Given the description of an element on the screen output the (x, y) to click on. 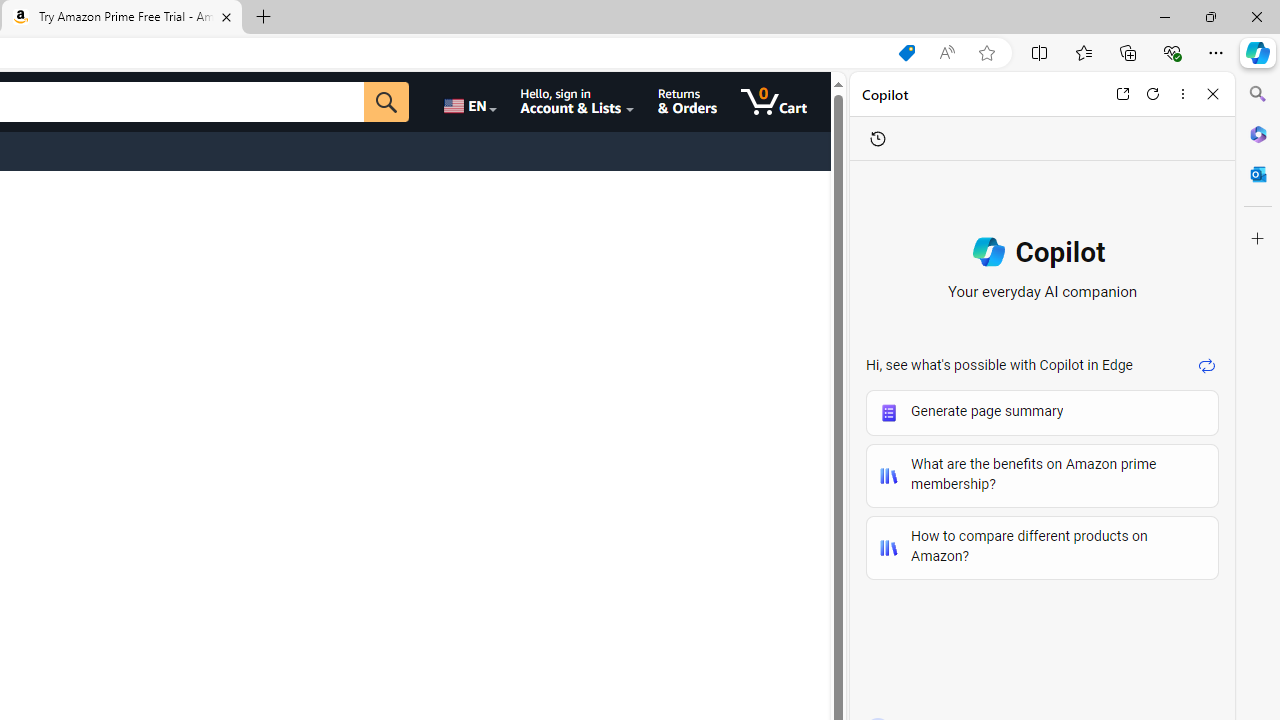
0 items in cart (774, 101)
Returns & Orders (686, 101)
